Given the description of an element on the screen output the (x, y) to click on. 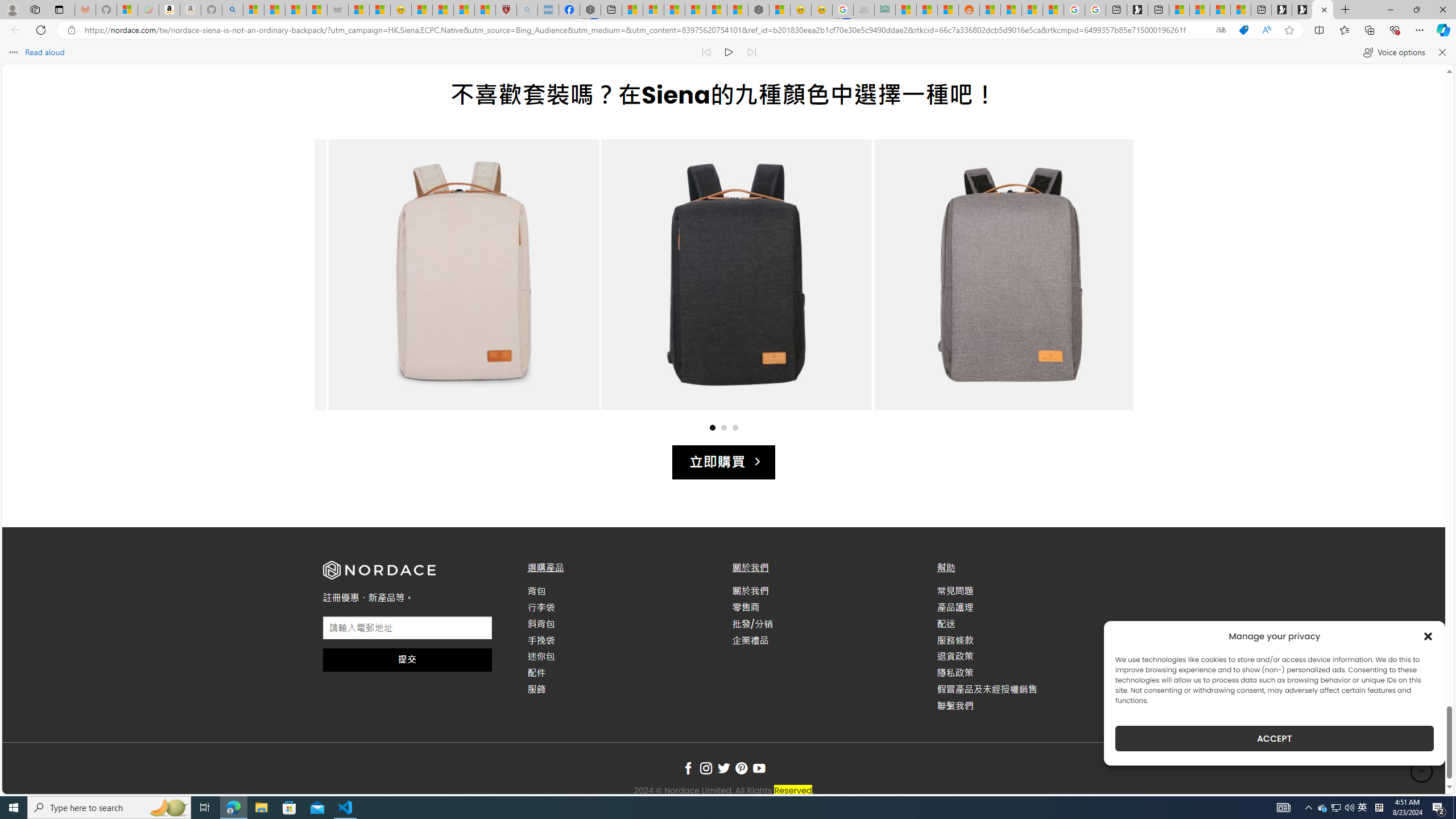
14 Common Myths Debunked By Scientific Facts (716, 9)
Nordace - #1 Japanese Best-Seller - Siena Smart Backpack (759, 9)
DITOGAMES AG Imprint (884, 9)
